Given the description of an element on the screen output the (x, y) to click on. 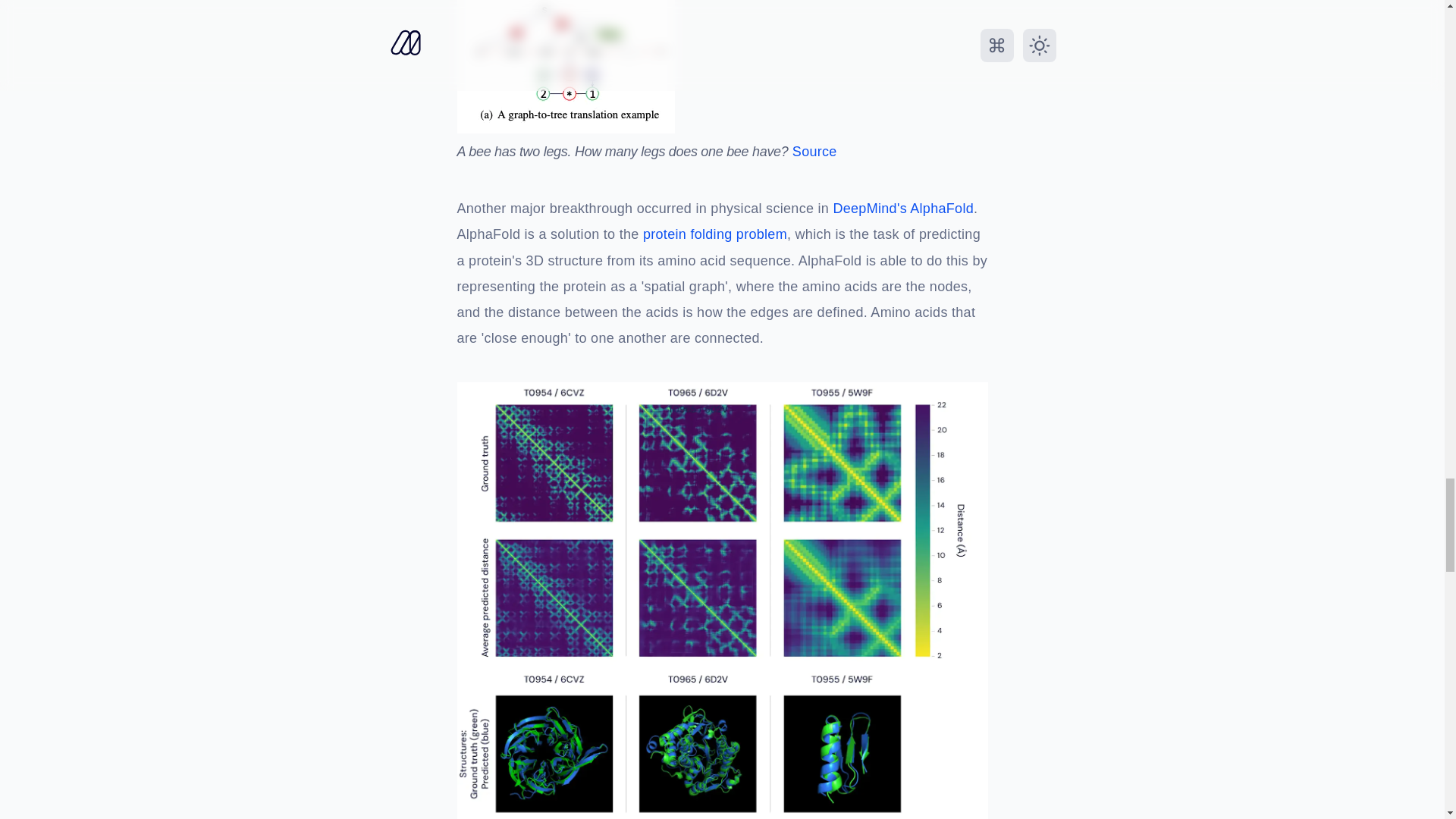
DeepMind's AlphaFold (903, 208)
protein folding problem (715, 234)
Source (814, 152)
